Given the description of an element on the screen output the (x, y) to click on. 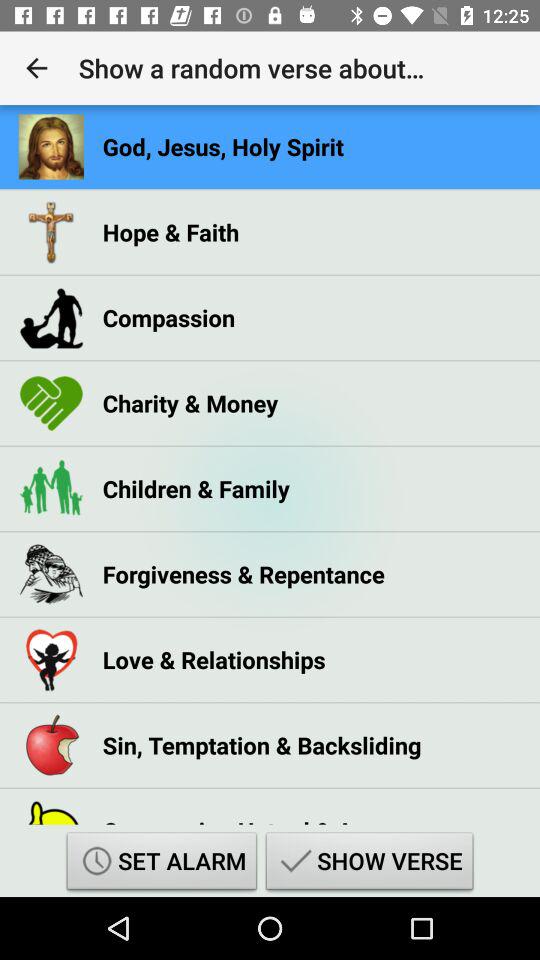
flip to the overcoming hatred & anger (251, 814)
